Given the description of an element on the screen output the (x, y) to click on. 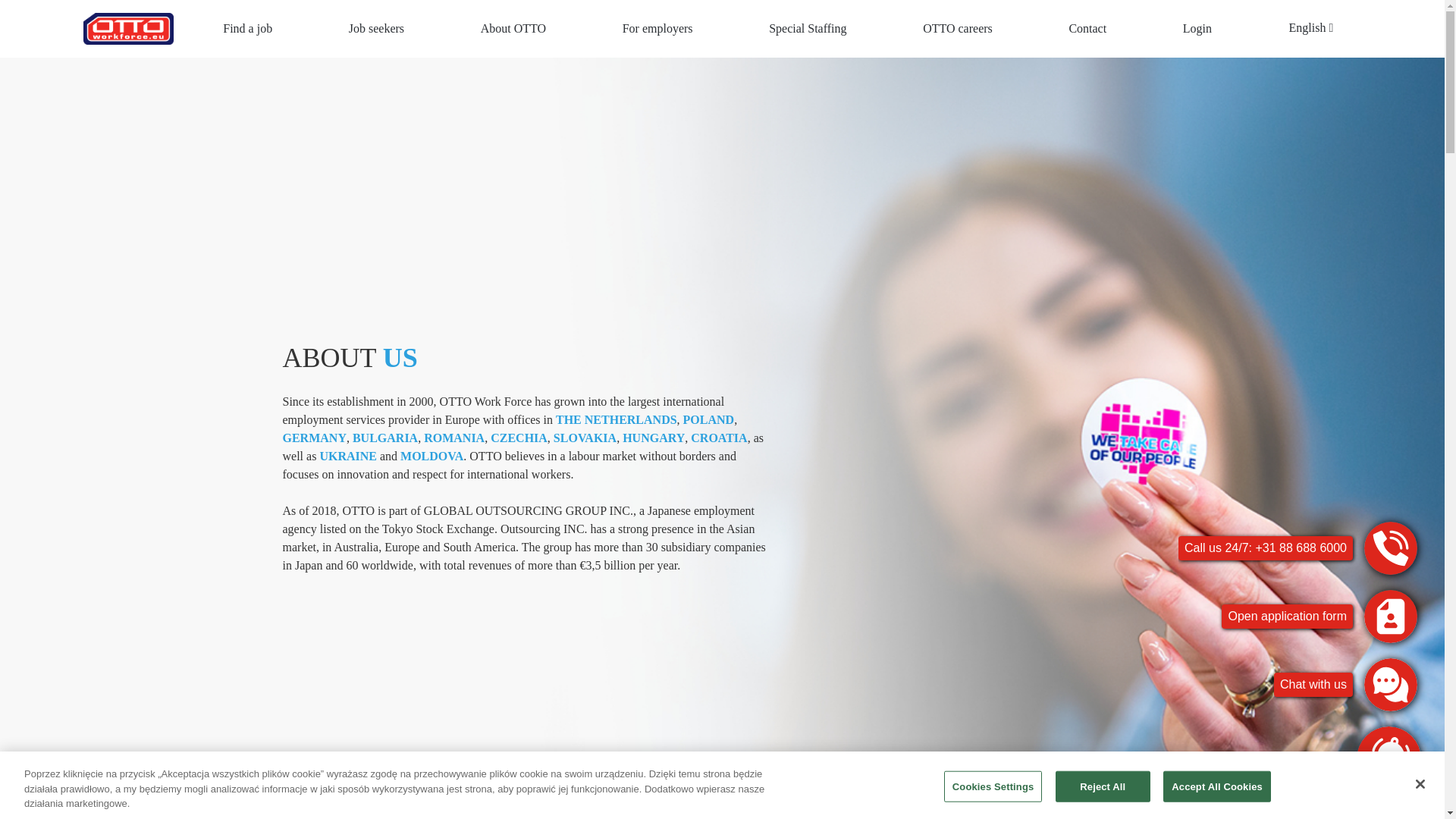
For employers (658, 28)
OTTO careers (957, 28)
Job seekers (376, 28)
English (1311, 27)
Login (1196, 28)
Find a job (247, 28)
Contact (1087, 28)
Special Staffing (806, 28)
About OTTO (513, 28)
